Given the description of an element on the screen output the (x, y) to click on. 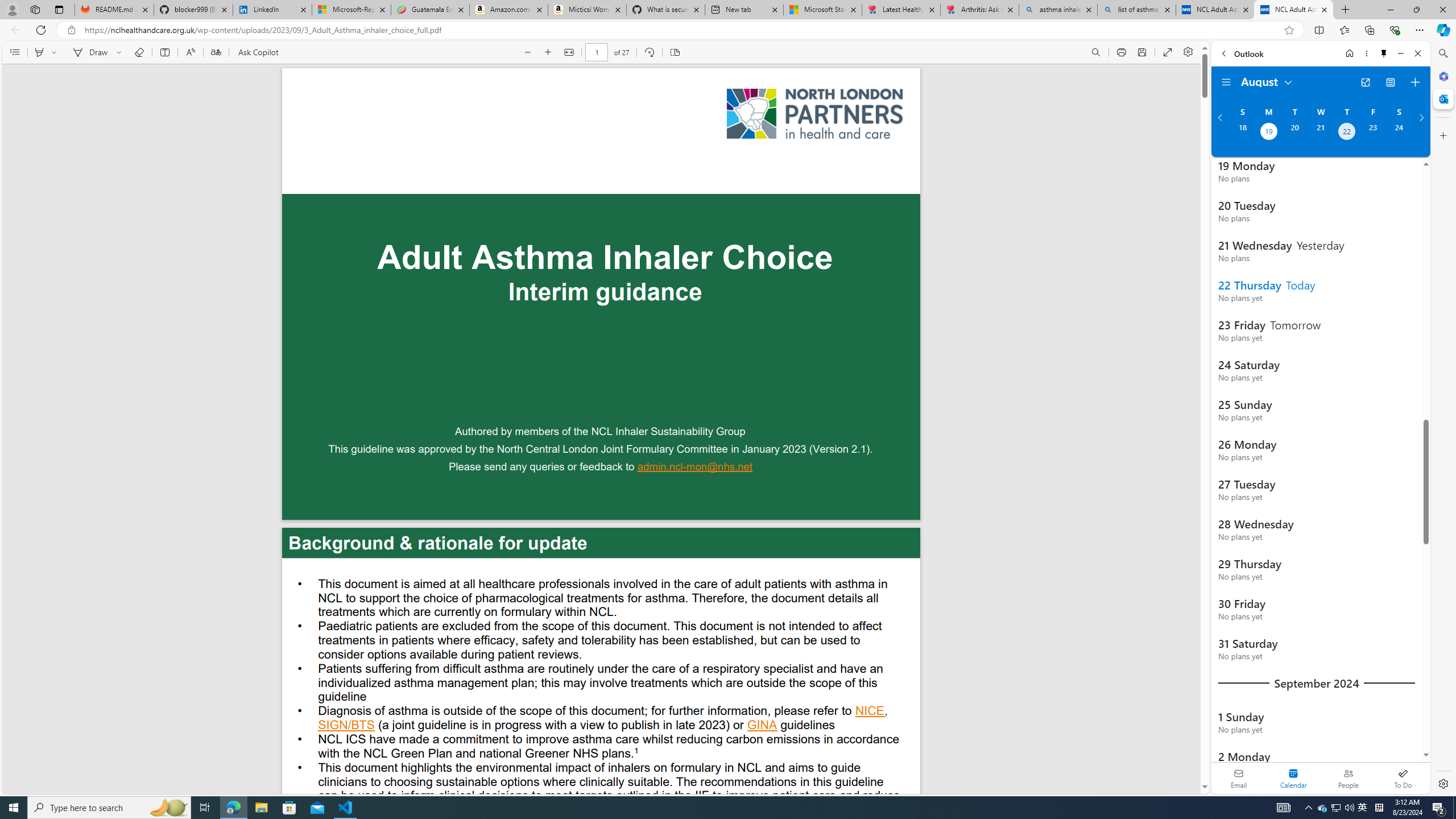
Zoom in (Ctrl+Plus key) (548, 52)
Print (Ctrl+P) (1121, 52)
Sunday, August 18, 2024.  (1242, 132)
August (1267, 80)
admin.ncl-mon@nhs.net (694, 467)
Open in new tab (1365, 82)
Select a highlight color (56, 52)
